Given the description of an element on the screen output the (x, y) to click on. 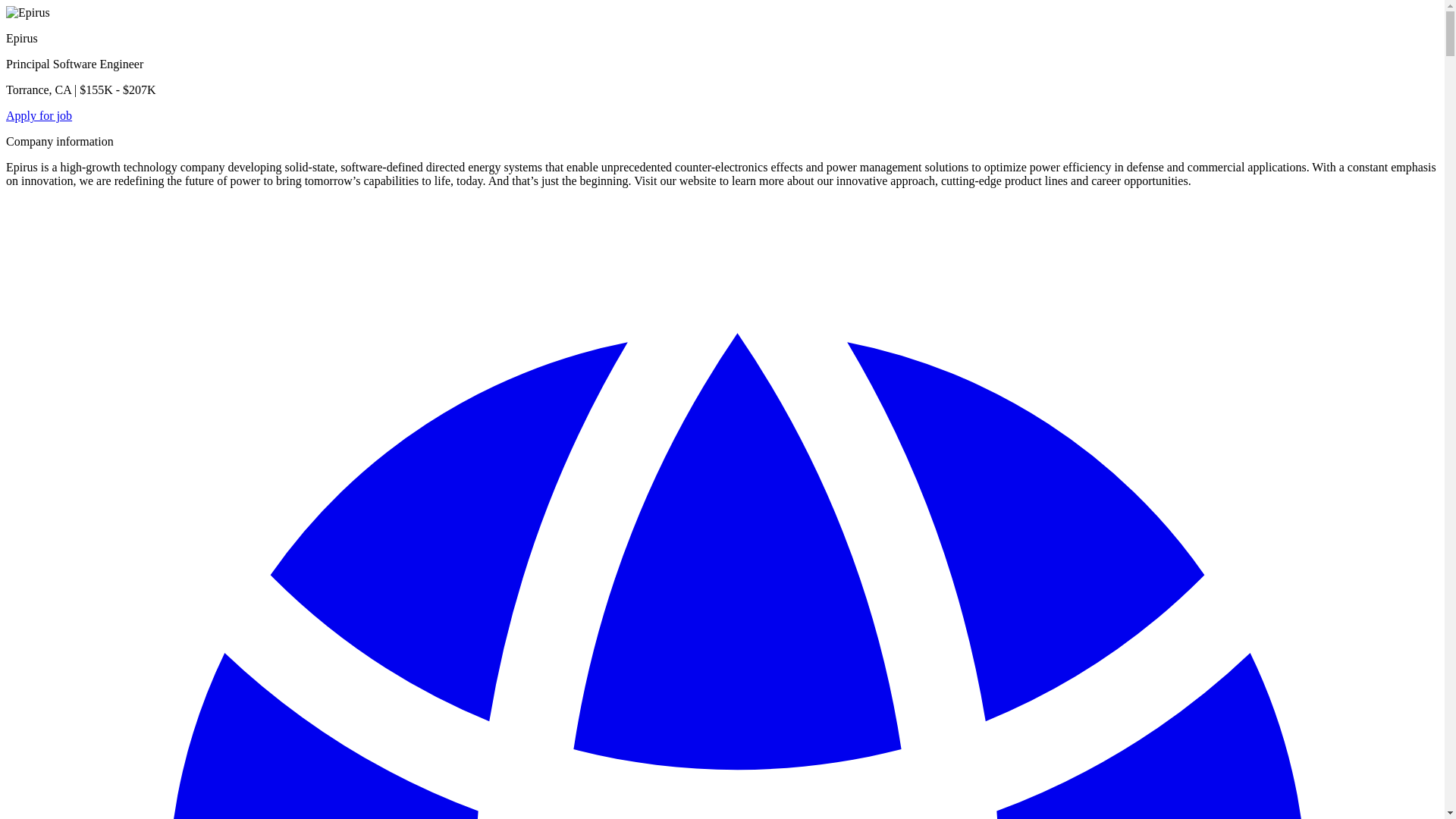
Apply for job (38, 115)
